Given the description of an element on the screen output the (x, y) to click on. 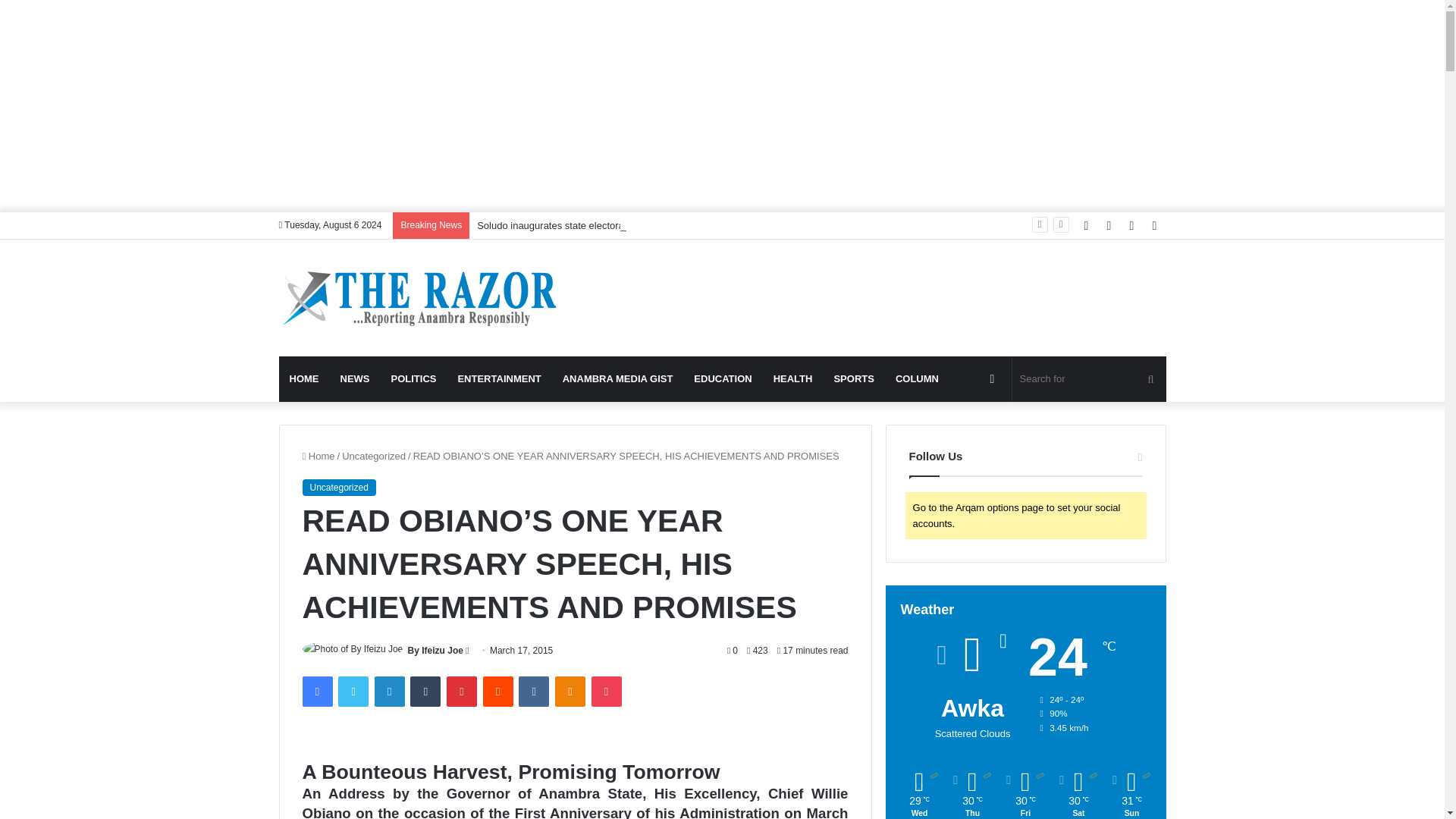
The Razor News (419, 297)
VKontakte (533, 691)
EDUCATION (721, 379)
SPORTS (852, 379)
NEWS (354, 379)
Odnoklassniki (569, 691)
Home (317, 455)
By Ifeizu Joe (435, 650)
Search for (1088, 379)
Tumblr (425, 691)
VKontakte (533, 691)
ENTERTAINMENT (498, 379)
By Ifeizu Joe (435, 650)
Twitter (352, 691)
